Given the description of an element on the screen output the (x, y) to click on. 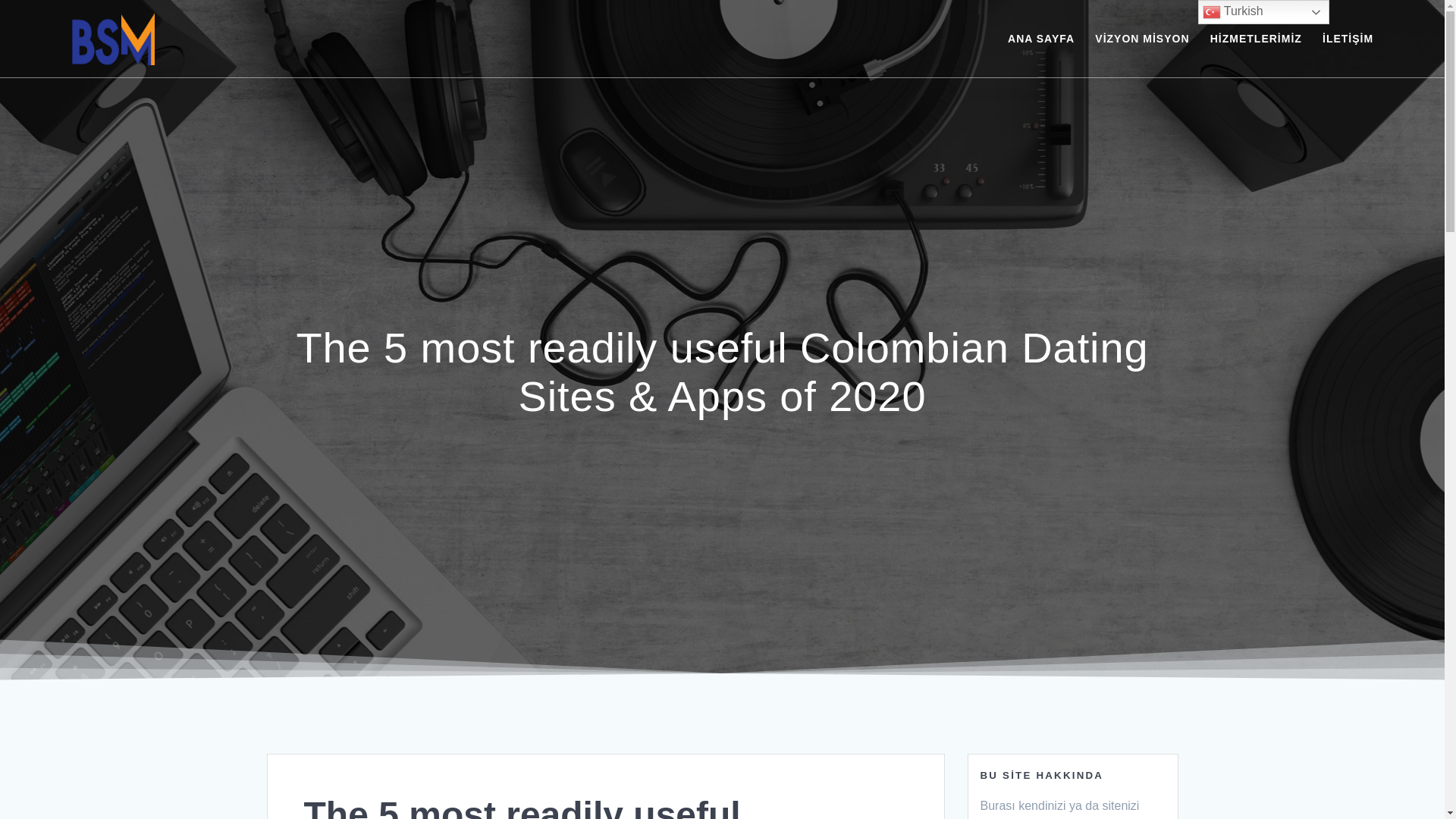
HIZMETLERIMIZ (1255, 38)
ANA SAYFA (1040, 38)
VIZYON MISYON (1141, 38)
